Given the description of an element on the screen output the (x, y) to click on. 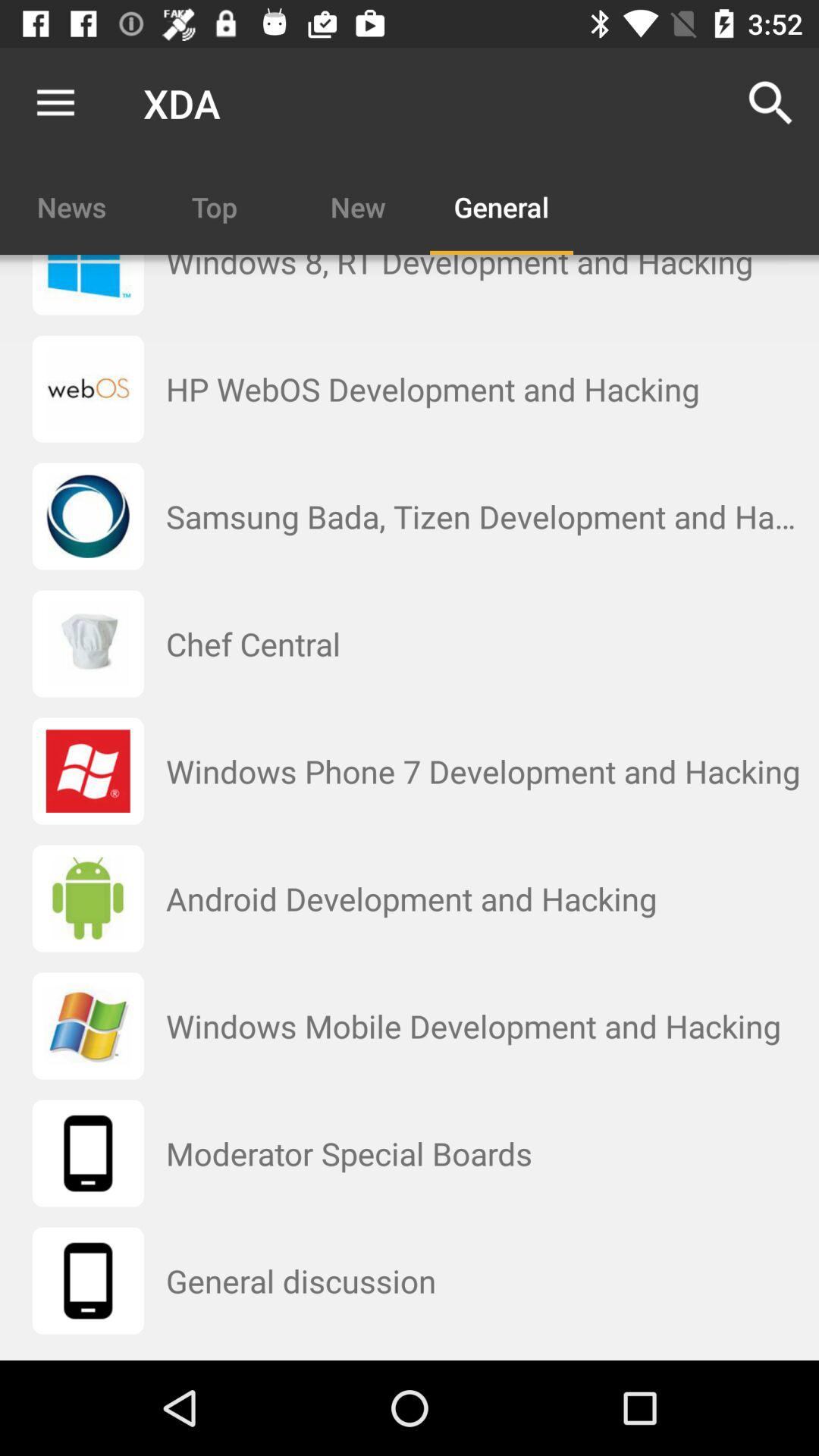
turn on the icon above news item (55, 103)
